Given the description of an element on the screen output the (x, y) to click on. 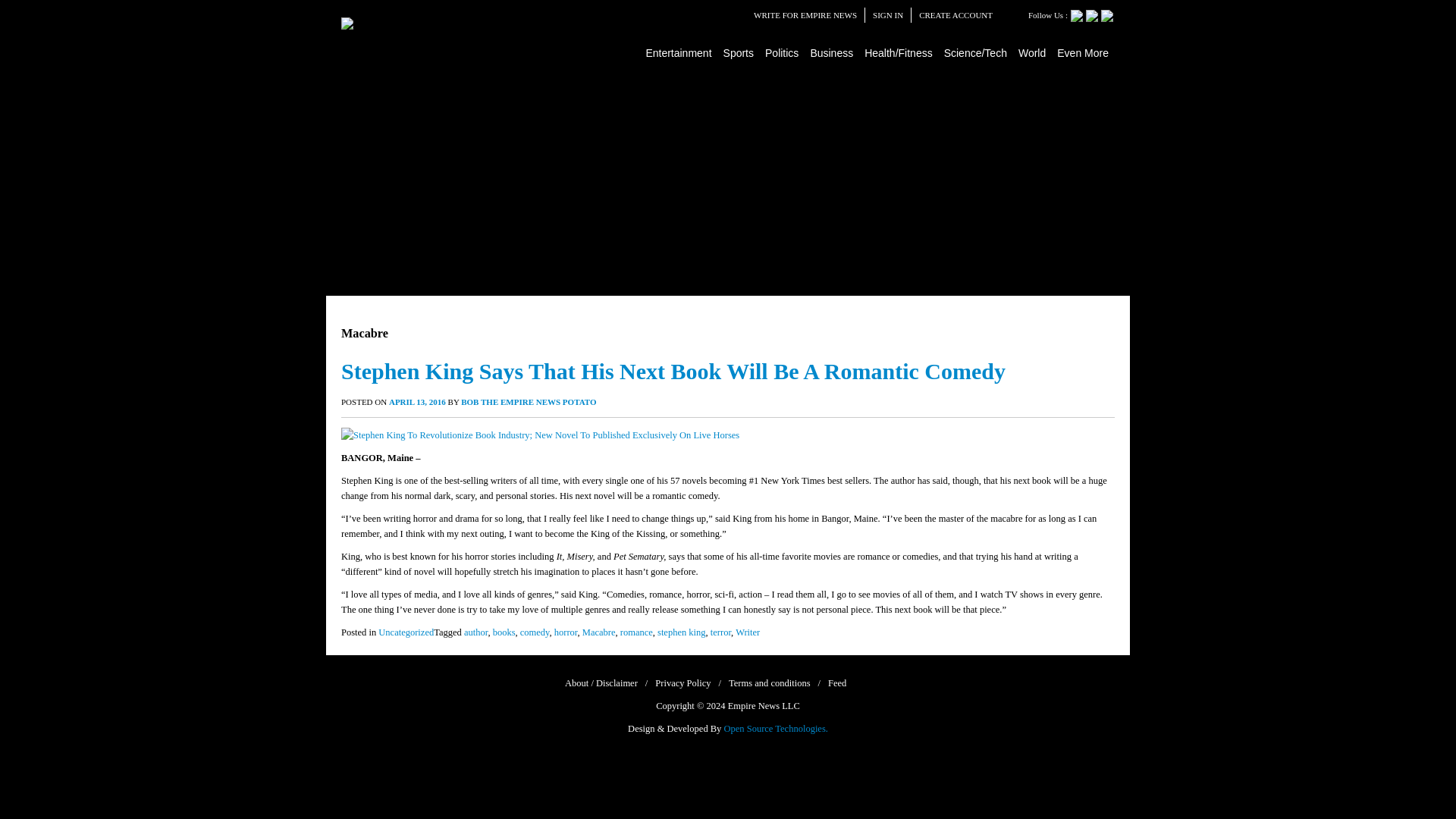
Business (832, 52)
SIGN IN (887, 14)
Politics (782, 52)
CREATE ACCOUNT (955, 14)
Sports (738, 52)
WRITE FOR EMPIRE NEWS (805, 14)
World (1032, 52)
Entertainment (678, 52)
